Given the description of an element on the screen output the (x, y) to click on. 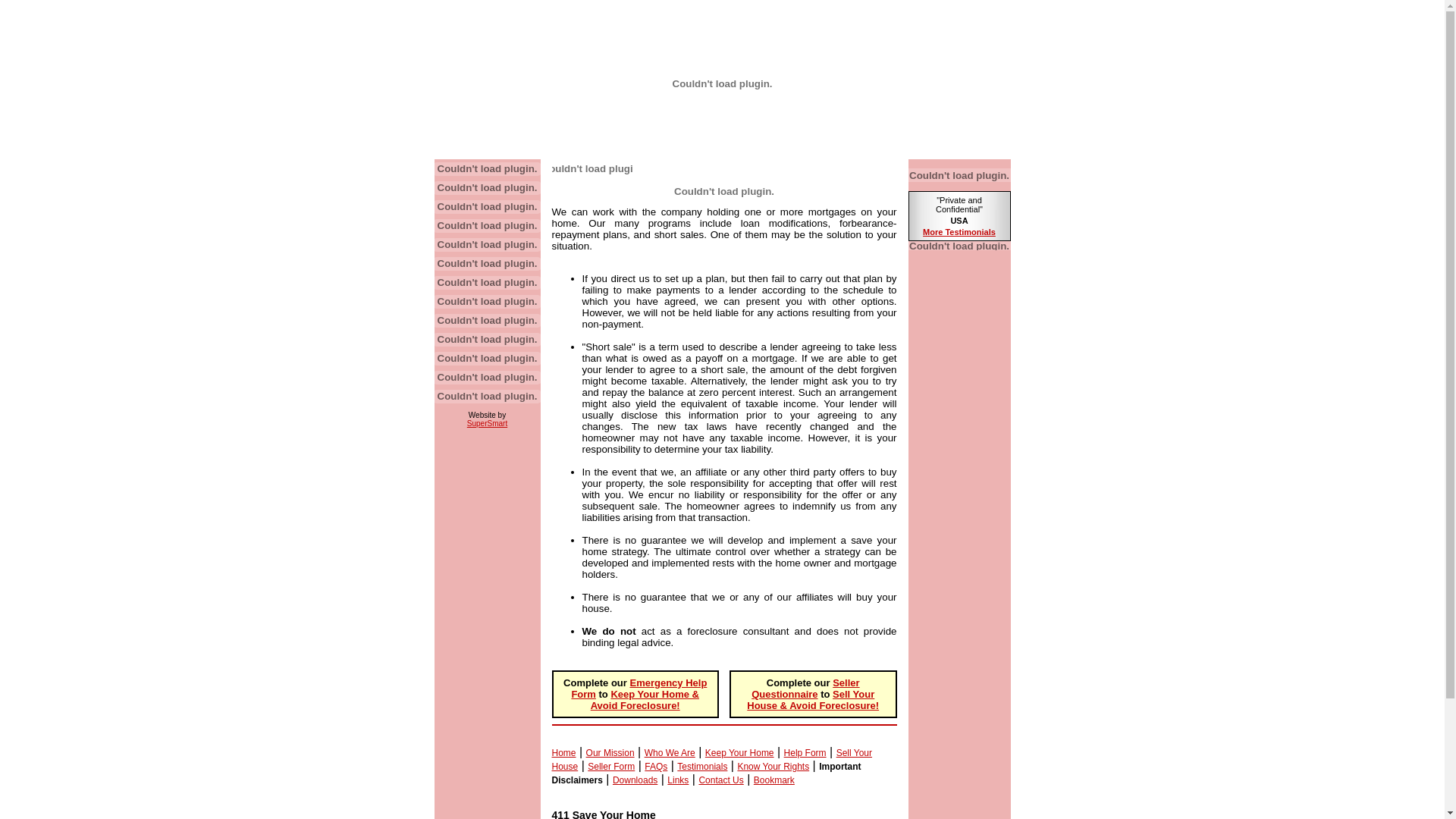
Bookmark Element type: text (773, 780)
Seller Questionnaire Element type: text (805, 688)
Contact Us Element type: text (720, 780)
Keep Your Home & Avoid Foreclosure! Element type: text (644, 699)
Our Mission Element type: text (610, 752)
Testimonials Element type: text (702, 766)
Keep Your Home Element type: text (739, 752)
Help Form Element type: text (805, 752)
Who We Are Element type: text (669, 752)
Emergency Help Form Element type: text (638, 688)
More Testimonials Element type: text (958, 231)
Home Element type: text (564, 752)
Seller Form Element type: text (610, 766)
Sell Your House Element type: text (712, 759)
Downloads Element type: text (634, 780)
Know Your Rights Element type: text (773, 766)
Links Element type: text (677, 780)
Sell Your House & Avoid Foreclosure! Element type: text (812, 699)
SuperSmart Element type: text (487, 423)
FAQs Element type: text (655, 766)
